Given the description of an element on the screen output the (x, y) to click on. 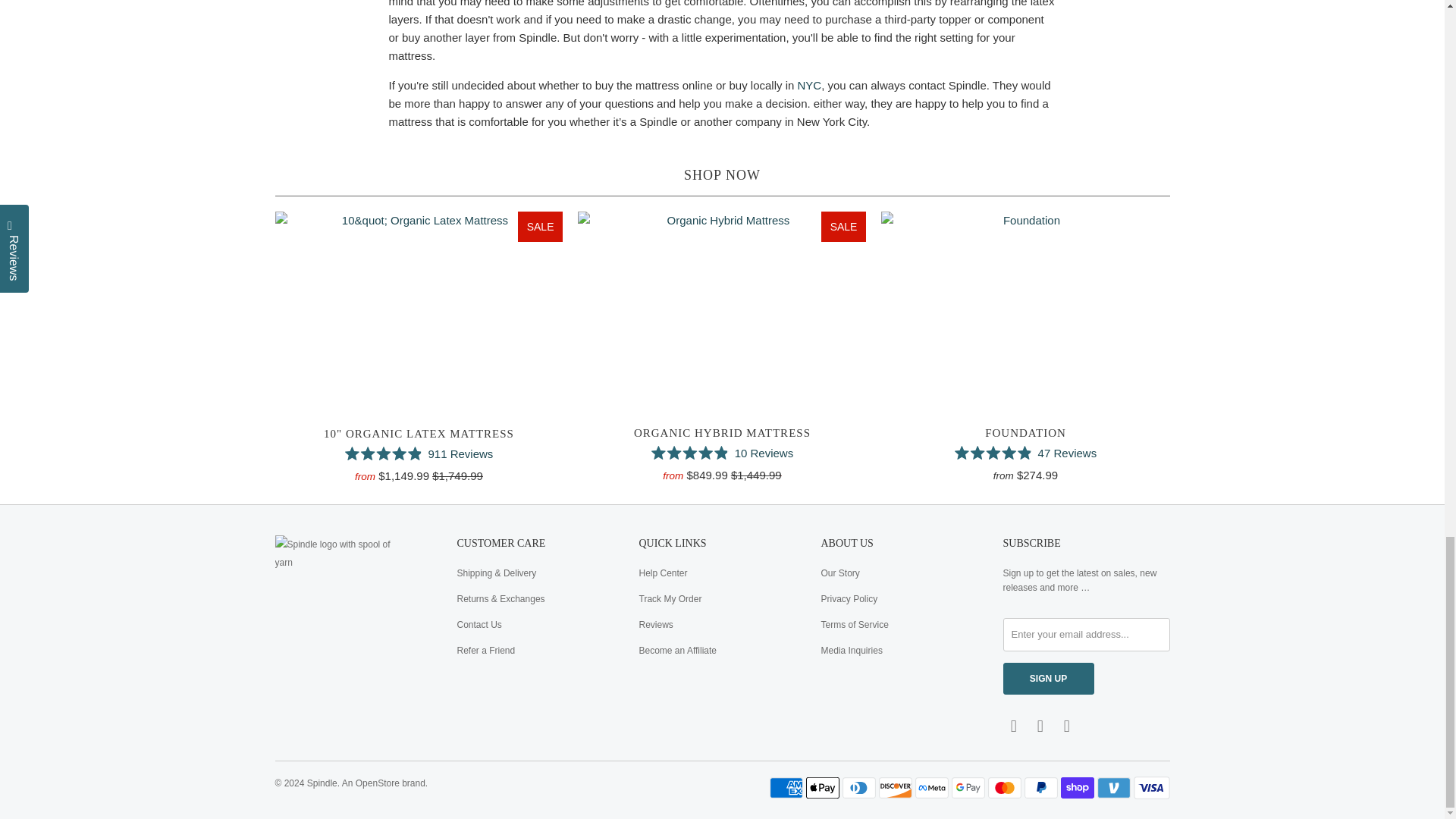
Sign Up (1048, 678)
Mattress Underground's Best organic mattress stores in NYC?  (809, 84)
